Given the description of an element on the screen output the (x, y) to click on. 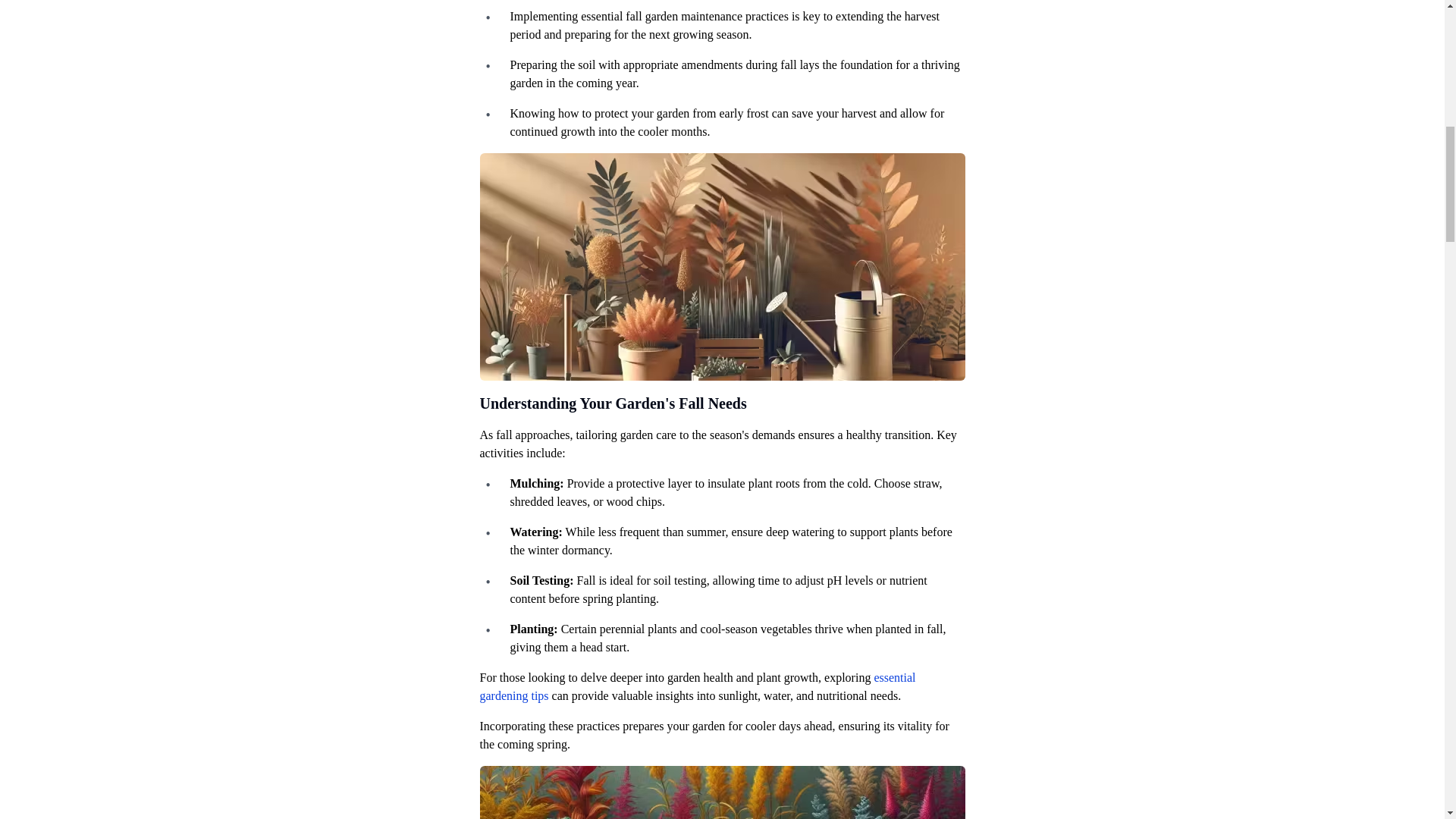
essential gardening tips (697, 685)
